Given the description of an element on the screen output the (x, y) to click on. 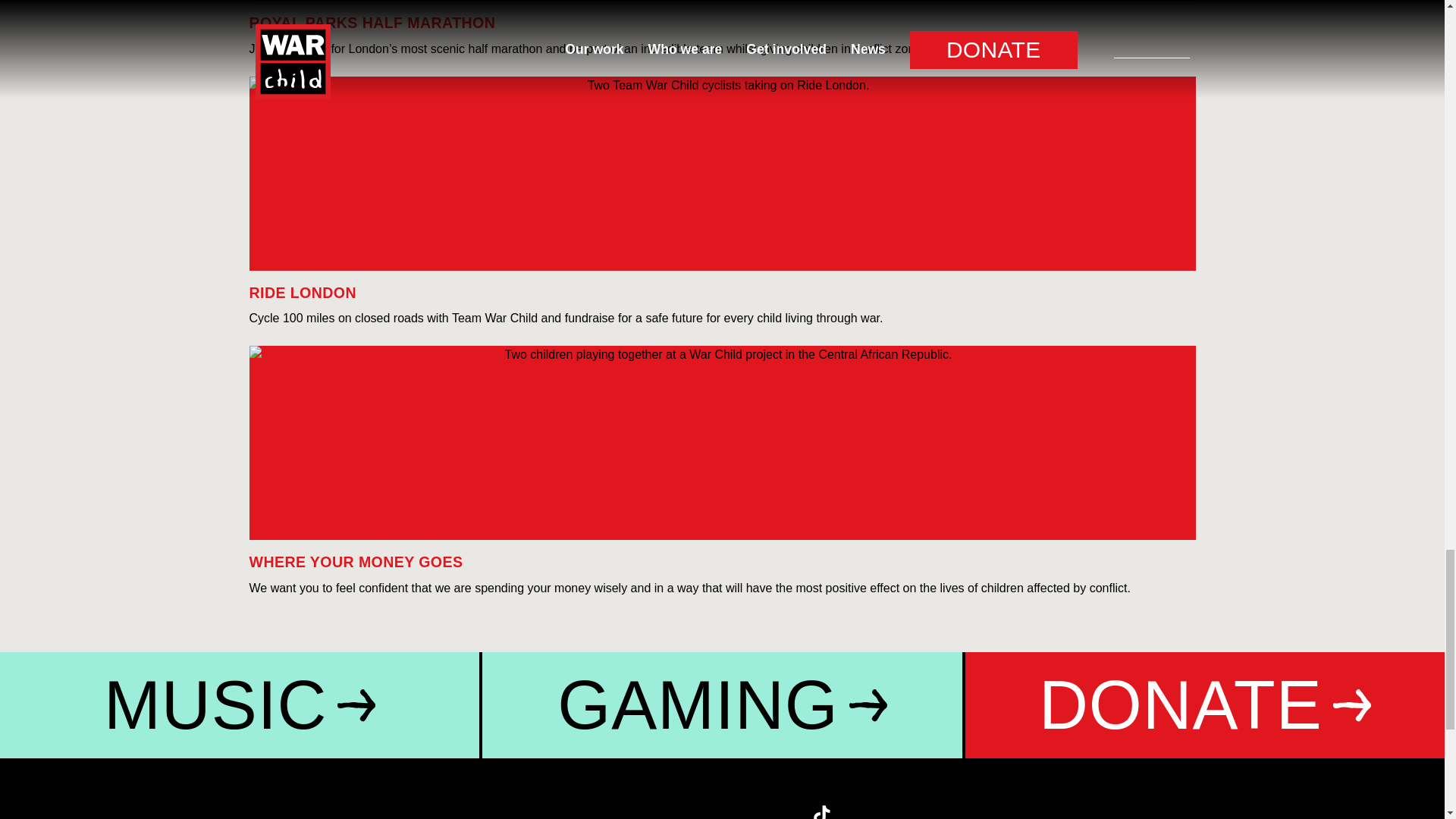
Instagram (700, 812)
Linkedin (784, 812)
Twitter (618, 812)
Facebook (659, 812)
Tiktok (825, 812)
Youtube (742, 812)
